Given the description of an element on the screen output the (x, y) to click on. 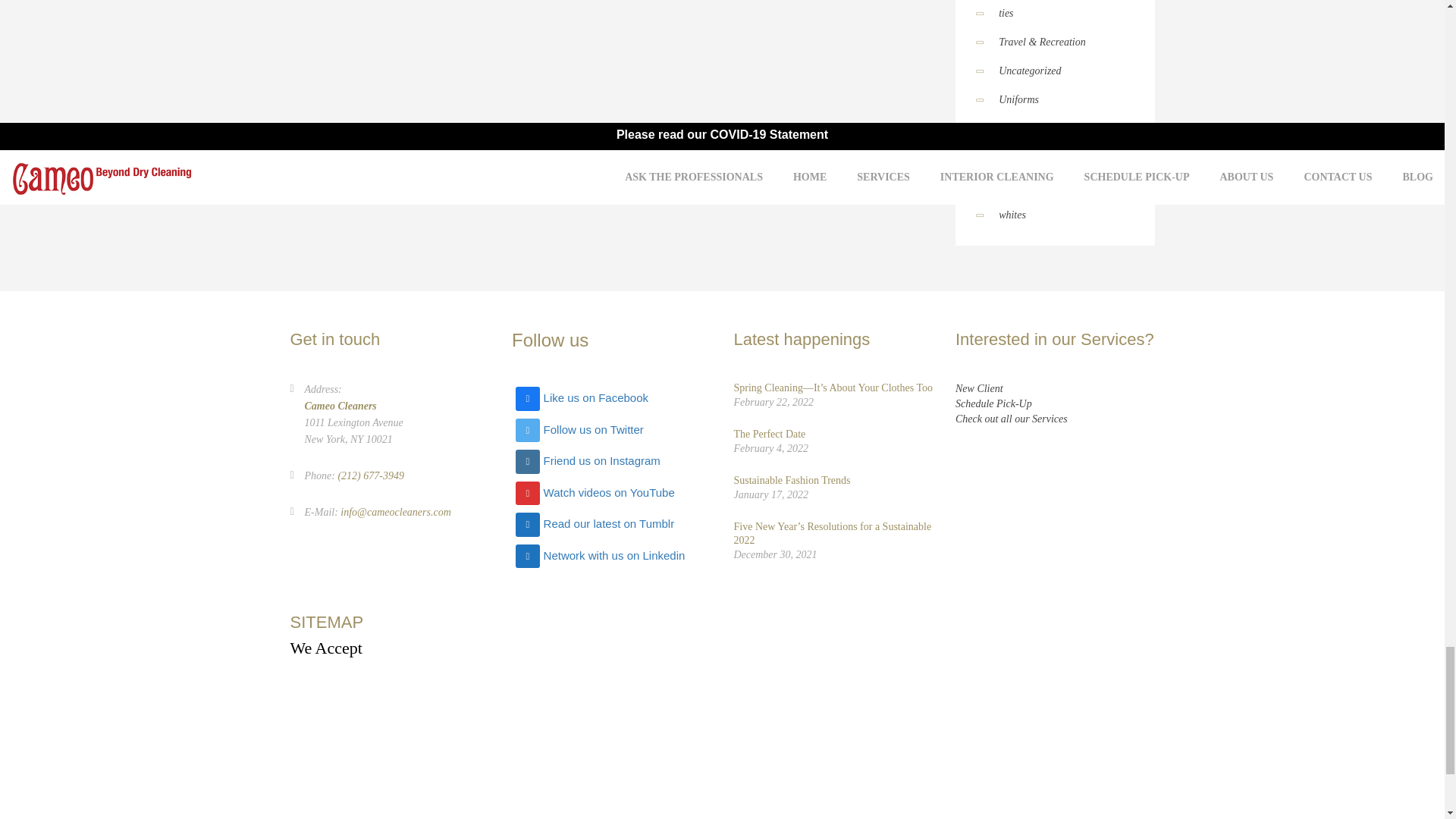
New York Cleaners (410, 704)
